Given the description of an element on the screen output the (x, y) to click on. 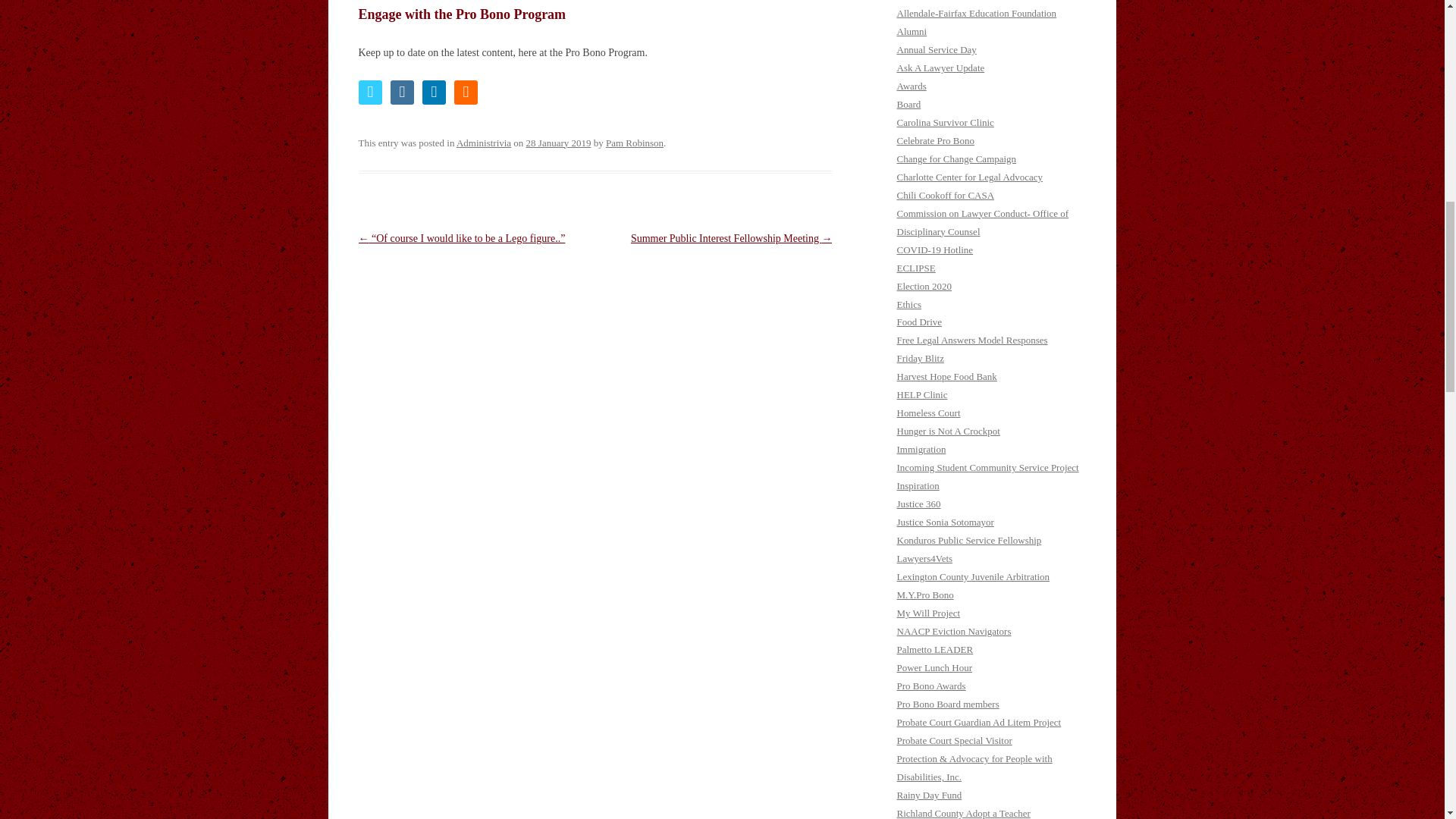
10:20 AM (558, 142)
Administrivia (923, 0)
Subscribe via RSS (464, 92)
View all posts by Pam Robinson (634, 142)
28 January 2019 (558, 142)
Pam Robinson (634, 142)
Administrivia (484, 142)
Allendale-Fairfax Education Foundation (976, 12)
Alumni (911, 30)
